Given the description of an element on the screen output the (x, y) to click on. 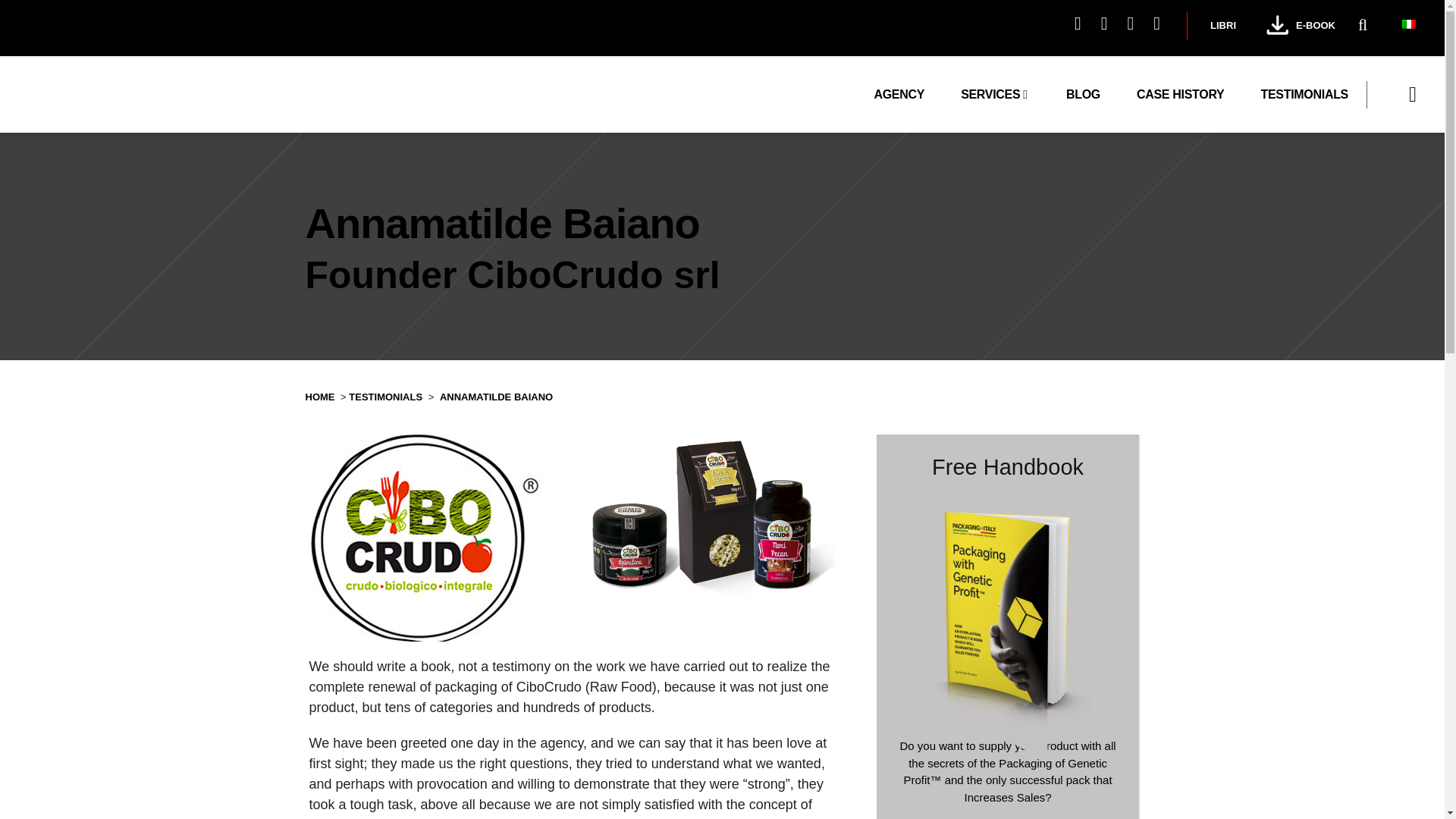
TESTIMONIALS (1304, 94)
LIBRI (1222, 25)
SERVICES (995, 94)
HOME (319, 396)
AGENCY (899, 94)
CASE HISTORY (1180, 94)
TESTIMONIALS (385, 396)
BLOG (1083, 94)
E-BOOK (1315, 25)
